Given the description of an element on the screen output the (x, y) to click on. 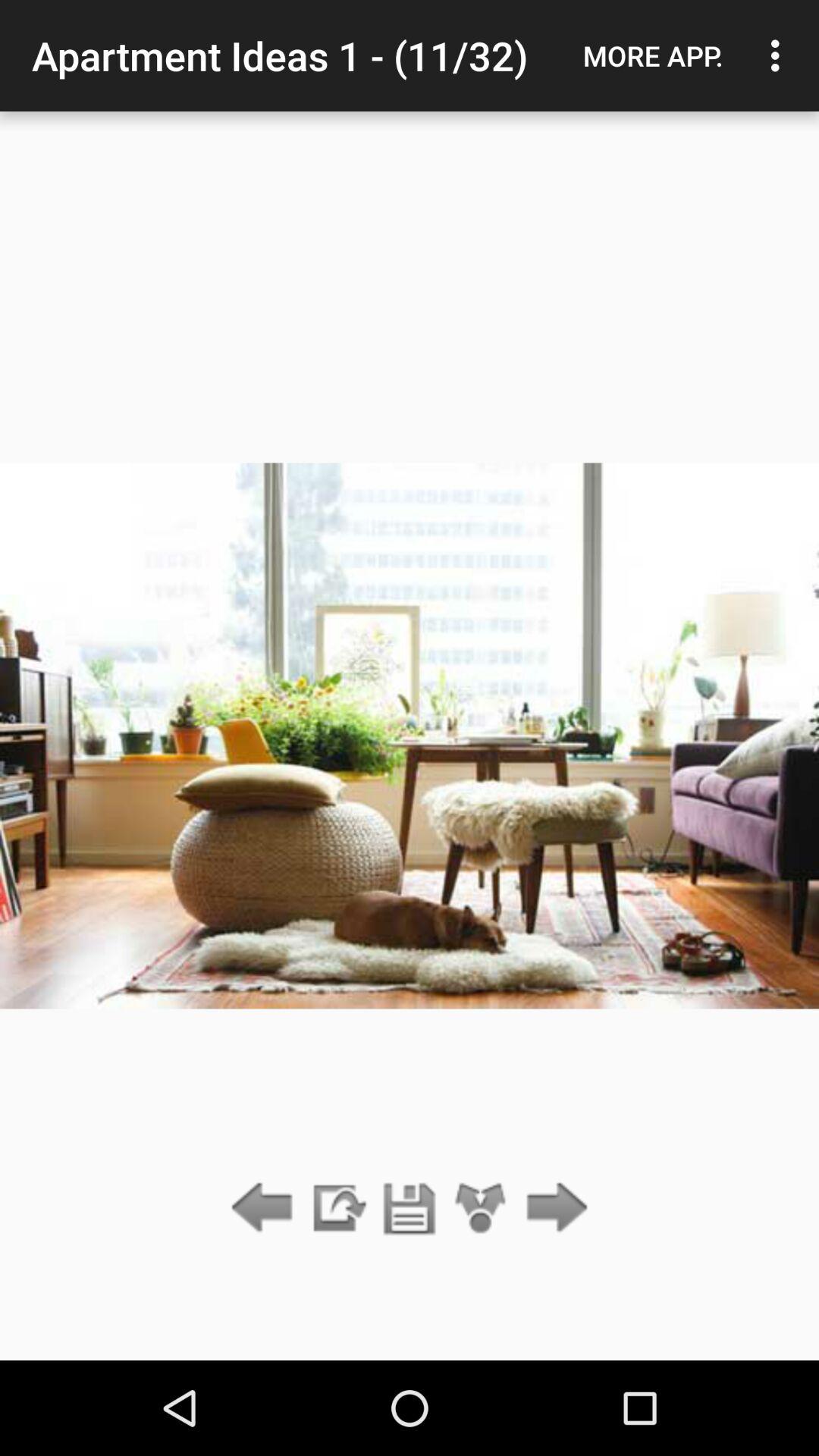
jump to the more app. (653, 55)
